Given the description of an element on the screen output the (x, y) to click on. 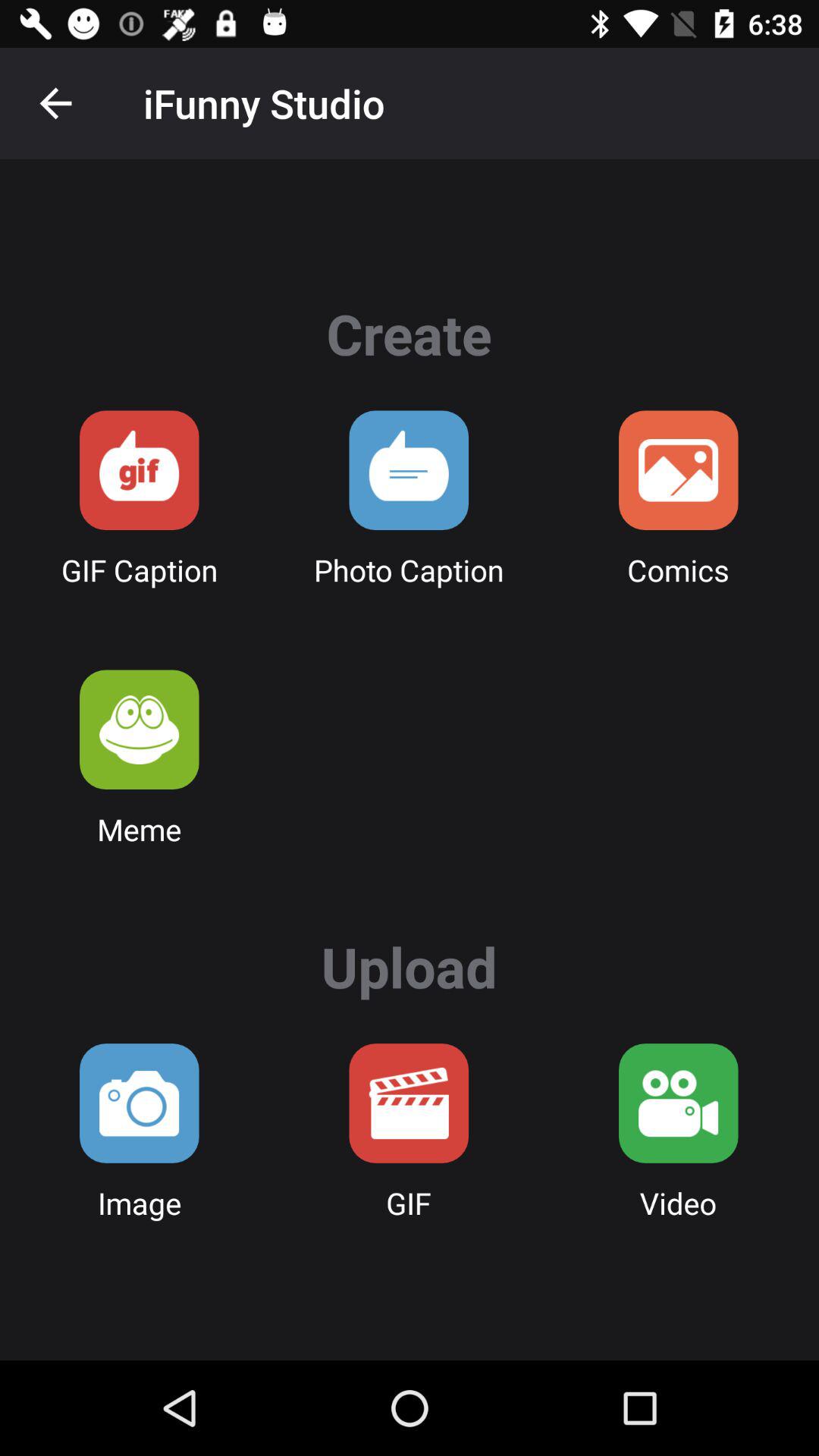
create meme (139, 729)
